Given the description of an element on the screen output the (x, y) to click on. 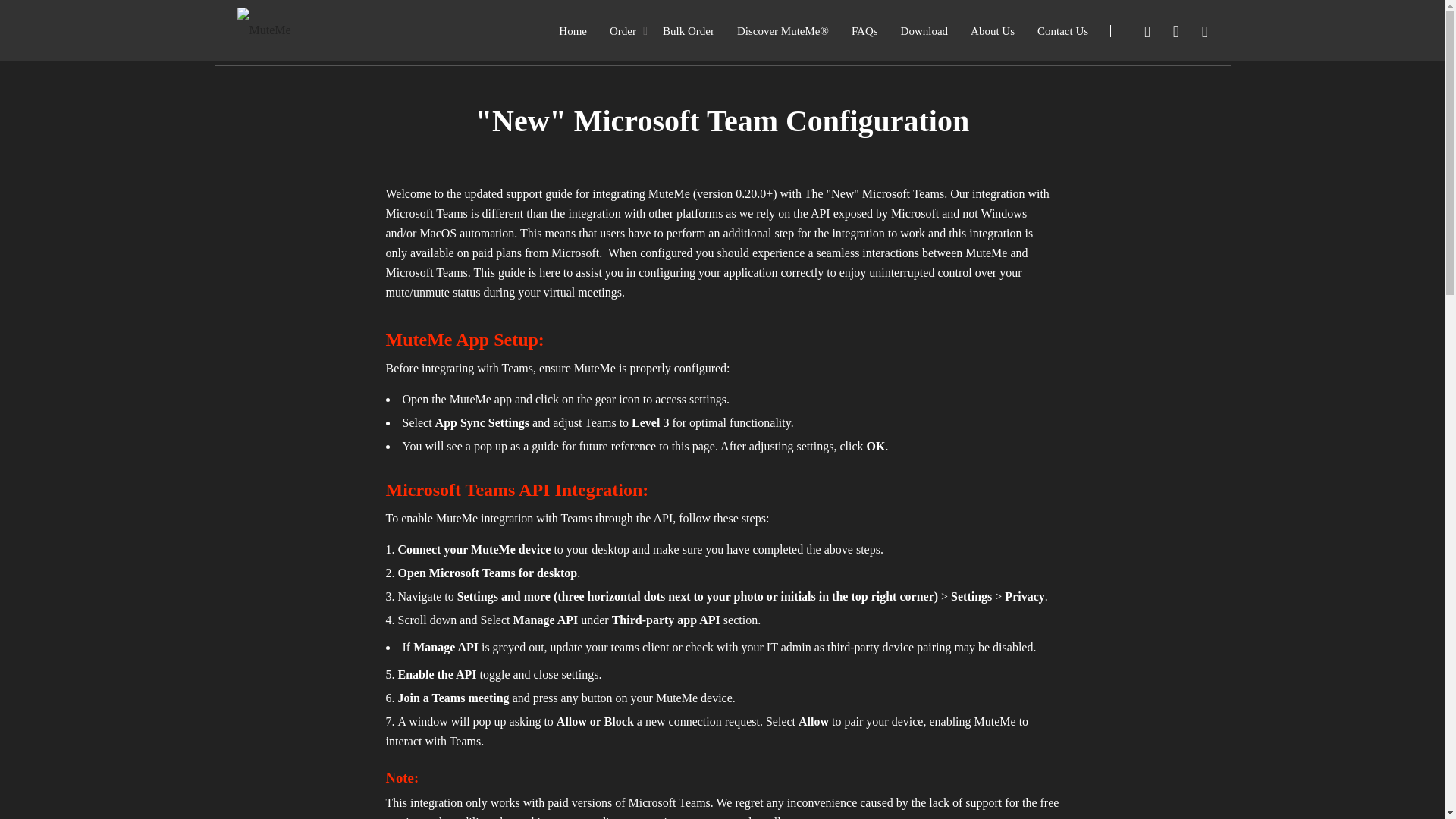
Home (572, 30)
Contact Us (1061, 30)
About Us (992, 30)
Bulk Order (688, 30)
Home (990, 32)
Download (925, 30)
Order (623, 30)
FAQs (864, 30)
